Given the description of an element on the screen output the (x, y) to click on. 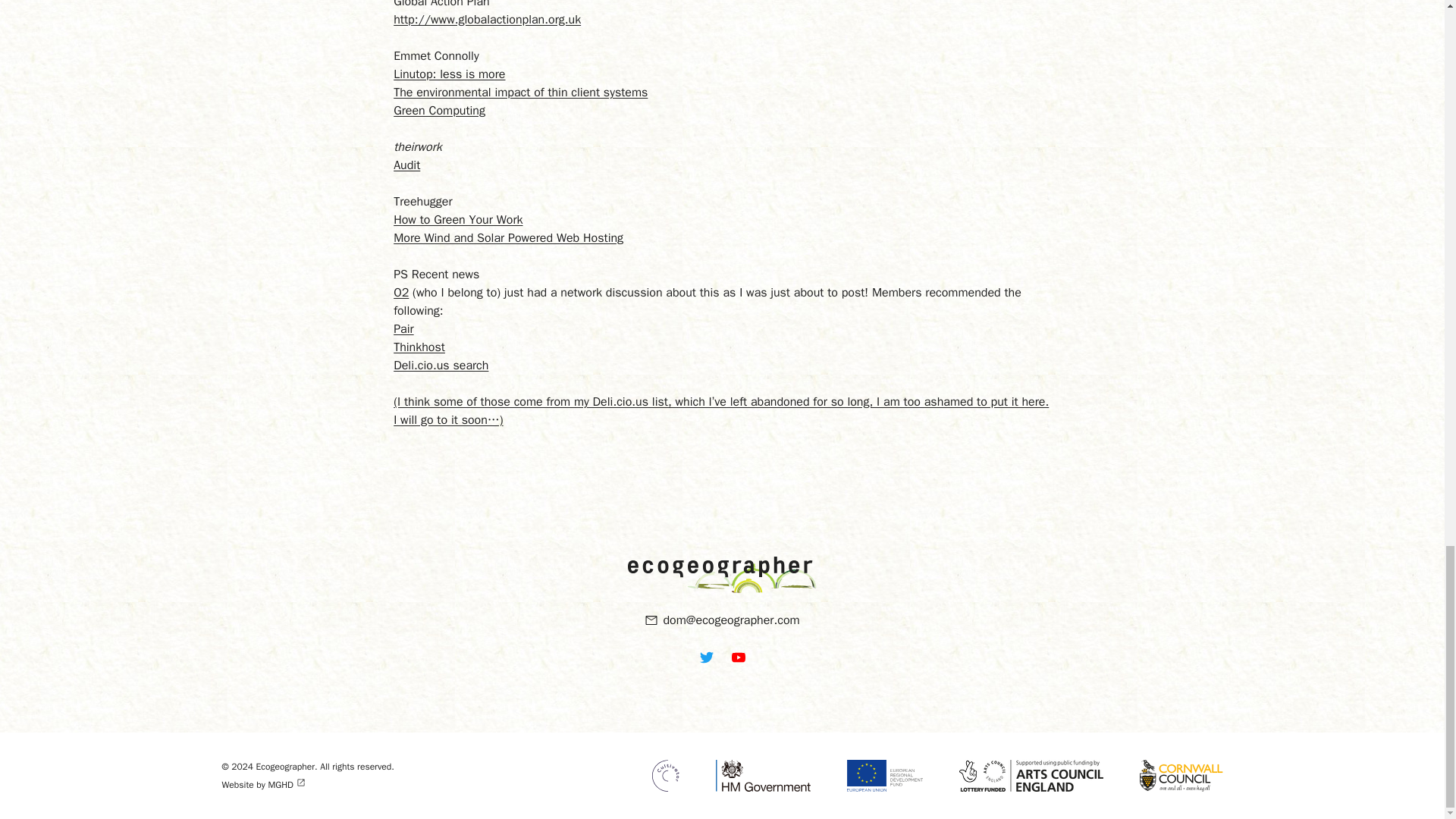
The environmental impact of thin client systems (520, 92)
Green Computing (438, 110)
Audit (406, 165)
Linutop: less is more (449, 73)
More Wind and Solar Powered Web Hosting (508, 237)
How to Green Your Work (457, 219)
O2 (401, 292)
